Given the description of an element on the screen output the (x, y) to click on. 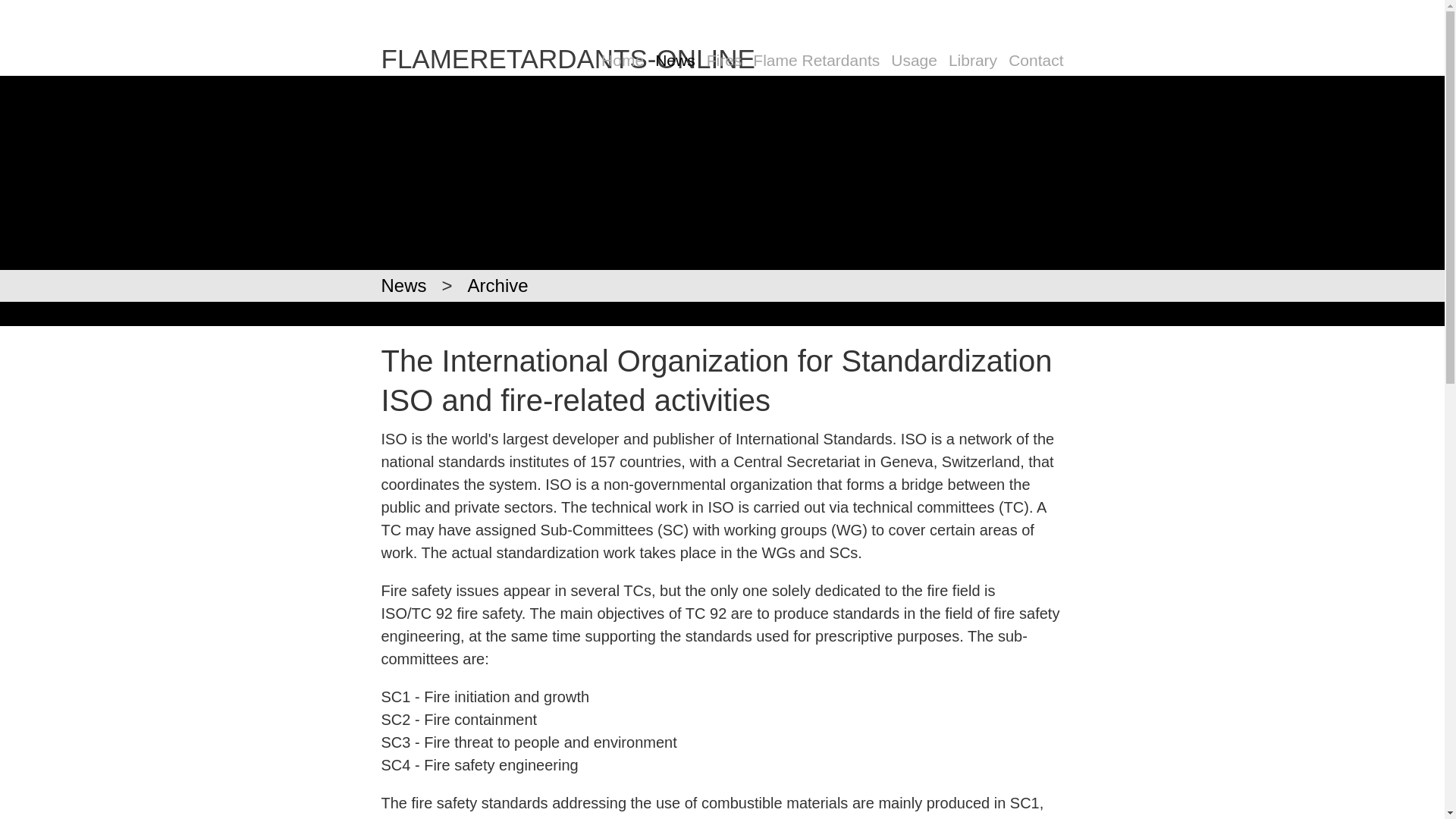
Contact (1035, 60)
Home (622, 60)
News (403, 285)
Flame Retardants (815, 60)
Fires (724, 60)
FLAMERETARDANTS-ONLINE (567, 58)
Archive (497, 285)
News (675, 60)
Usage (914, 60)
Library (973, 60)
